Given the description of an element on the screen output the (x, y) to click on. 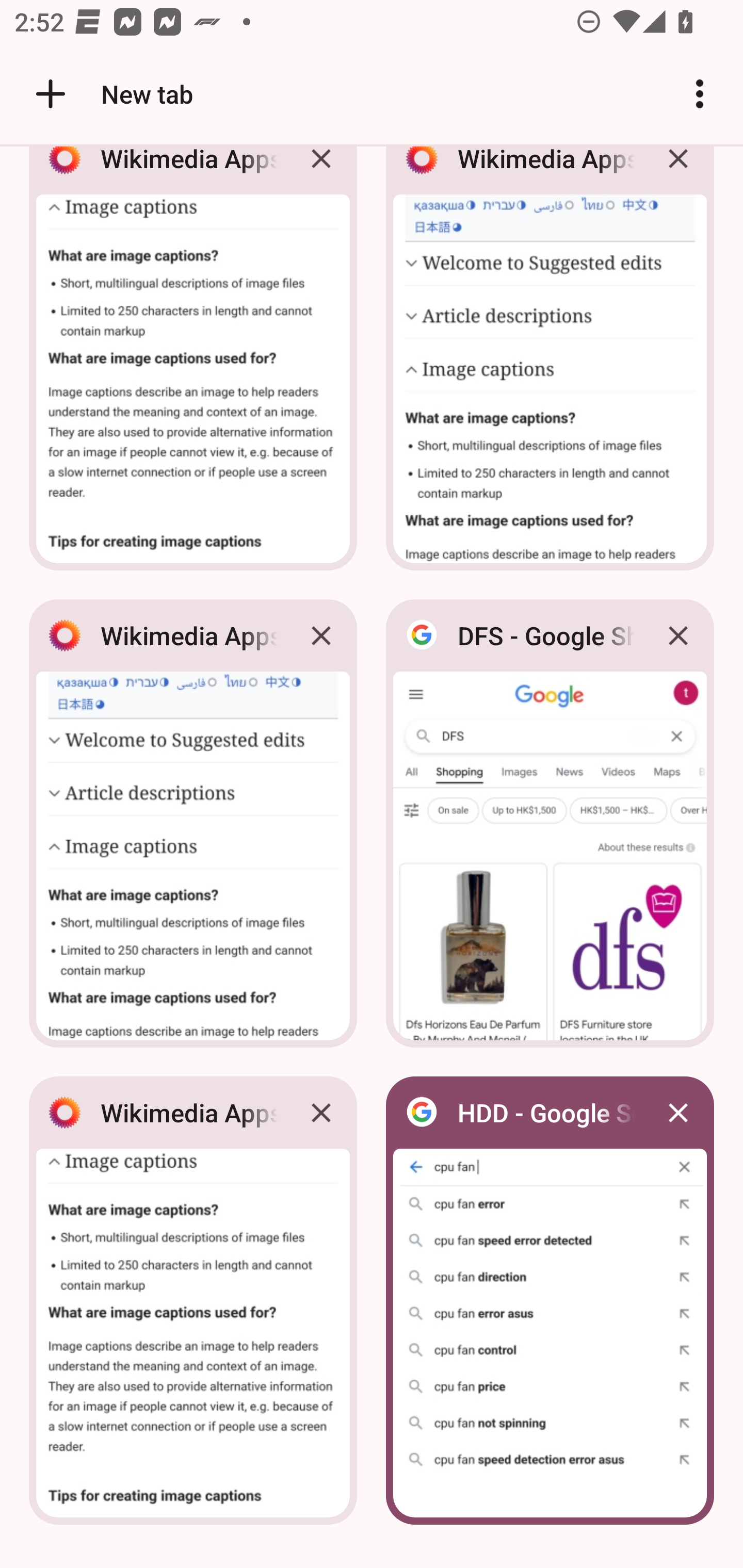
New tab (111, 93)
Customize and control Google Chrome (699, 93)
Close DFS - Google Shopping tab (677, 635)
Close HDD - Google Search tab (677, 1112)
